Given the description of an element on the screen output the (x, y) to click on. 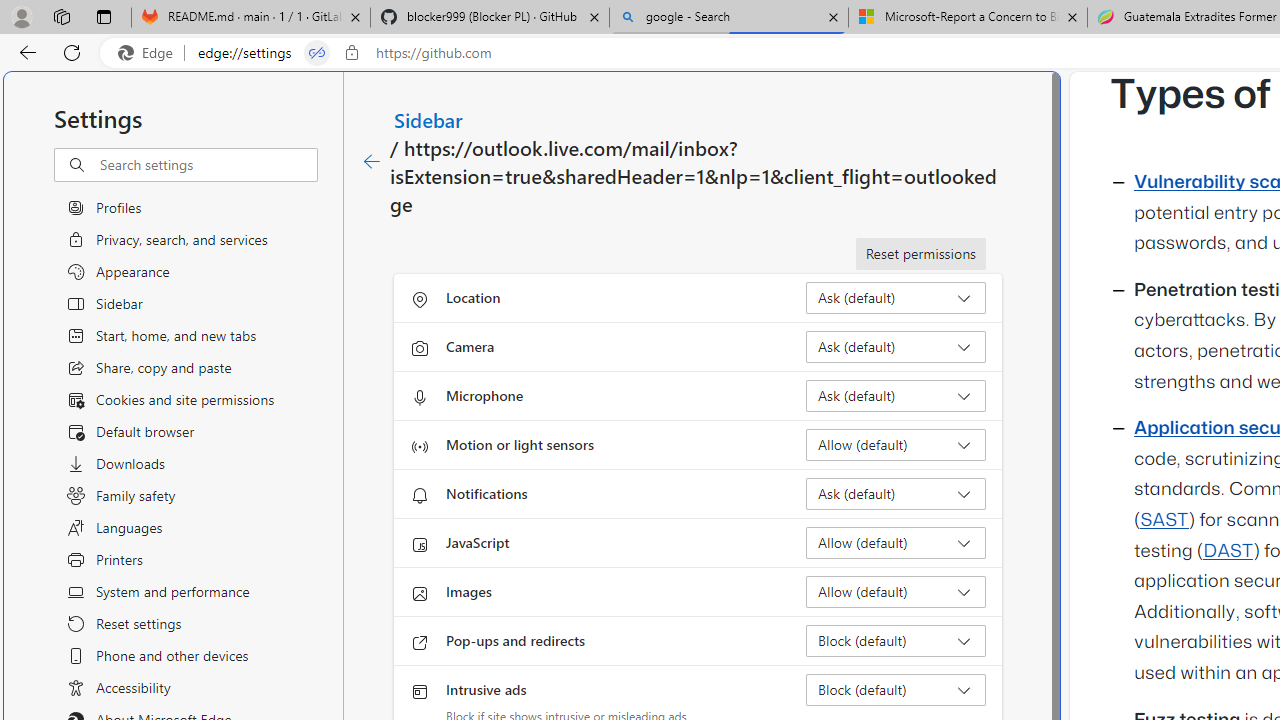
Intrusive ads Block (default) (895, 689)
Camera Ask (default) (895, 346)
SAST (1164, 520)
Sidebar (429, 119)
Images Allow (default) (895, 591)
Search settings (207, 165)
Go back to Sidebar page. (372, 162)
Microphone Ask (default) (895, 395)
Motion or light sensors Allow (default) (895, 444)
